Given the description of an element on the screen output the (x, y) to click on. 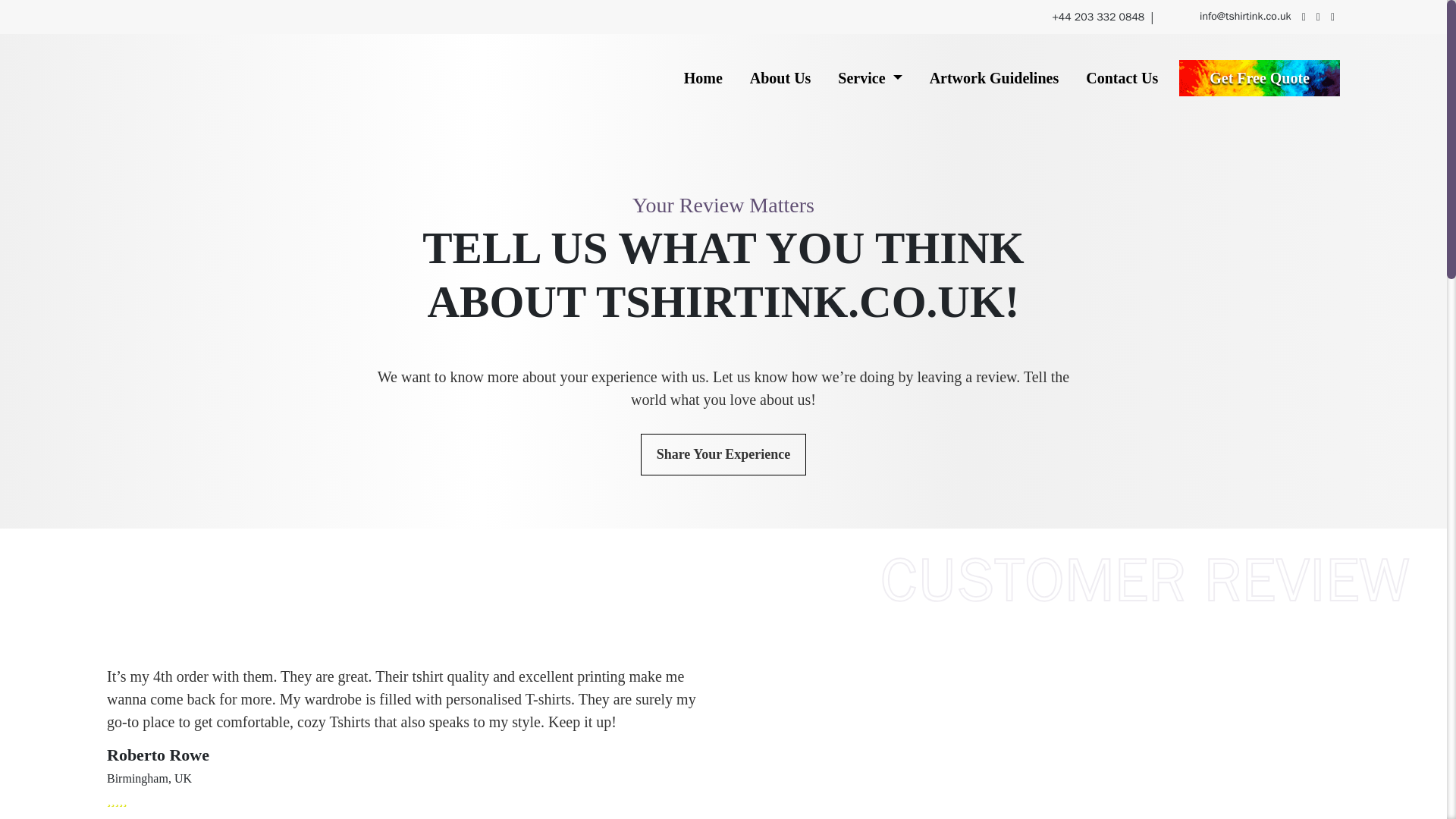
About Us (780, 77)
Get Free Quote (1259, 77)
Share Your Experience (723, 454)
Home (703, 77)
Artwork Guidelines (994, 77)
Contact Us (1121, 77)
